Given the description of an element on the screen output the (x, y) to click on. 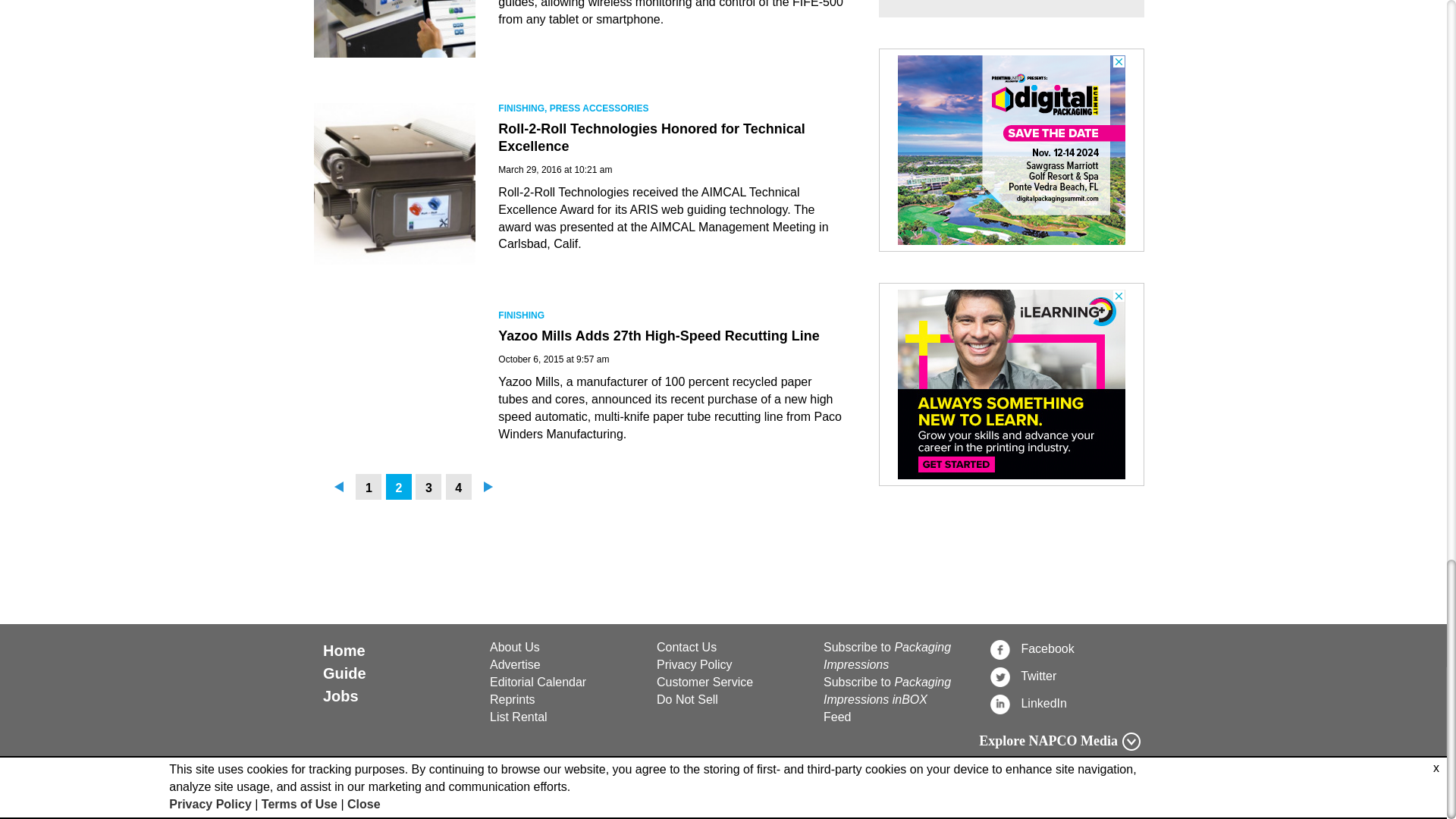
Opens in a new window (731, 700)
Opens in a new window (731, 665)
Opens in a new window (1065, 649)
3rd party ad content (1011, 384)
Opens in a new window (731, 682)
Opens in a new window (1065, 676)
3rd party ad content (1011, 149)
Opens in a new window (1065, 703)
